Given the description of an element on the screen output the (x, y) to click on. 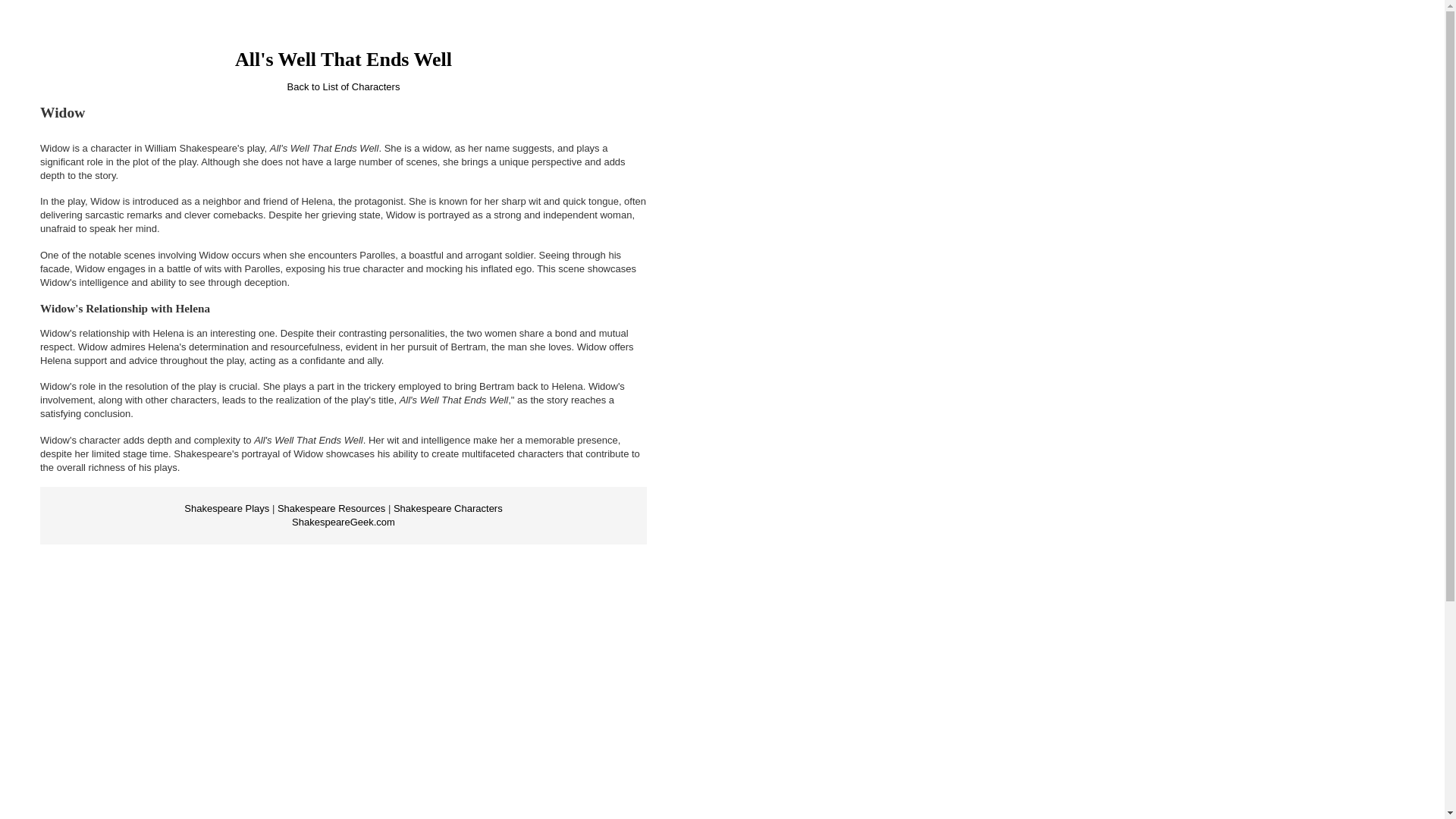
ShakespeareGeek.com (343, 521)
Shakespeare Characters (447, 508)
Shakespeare Plays (226, 508)
Shakespeare Resources (331, 508)
All's Well That Ends Well (342, 59)
Back to List of Characters (343, 86)
